Given the description of an element on the screen output the (x, y) to click on. 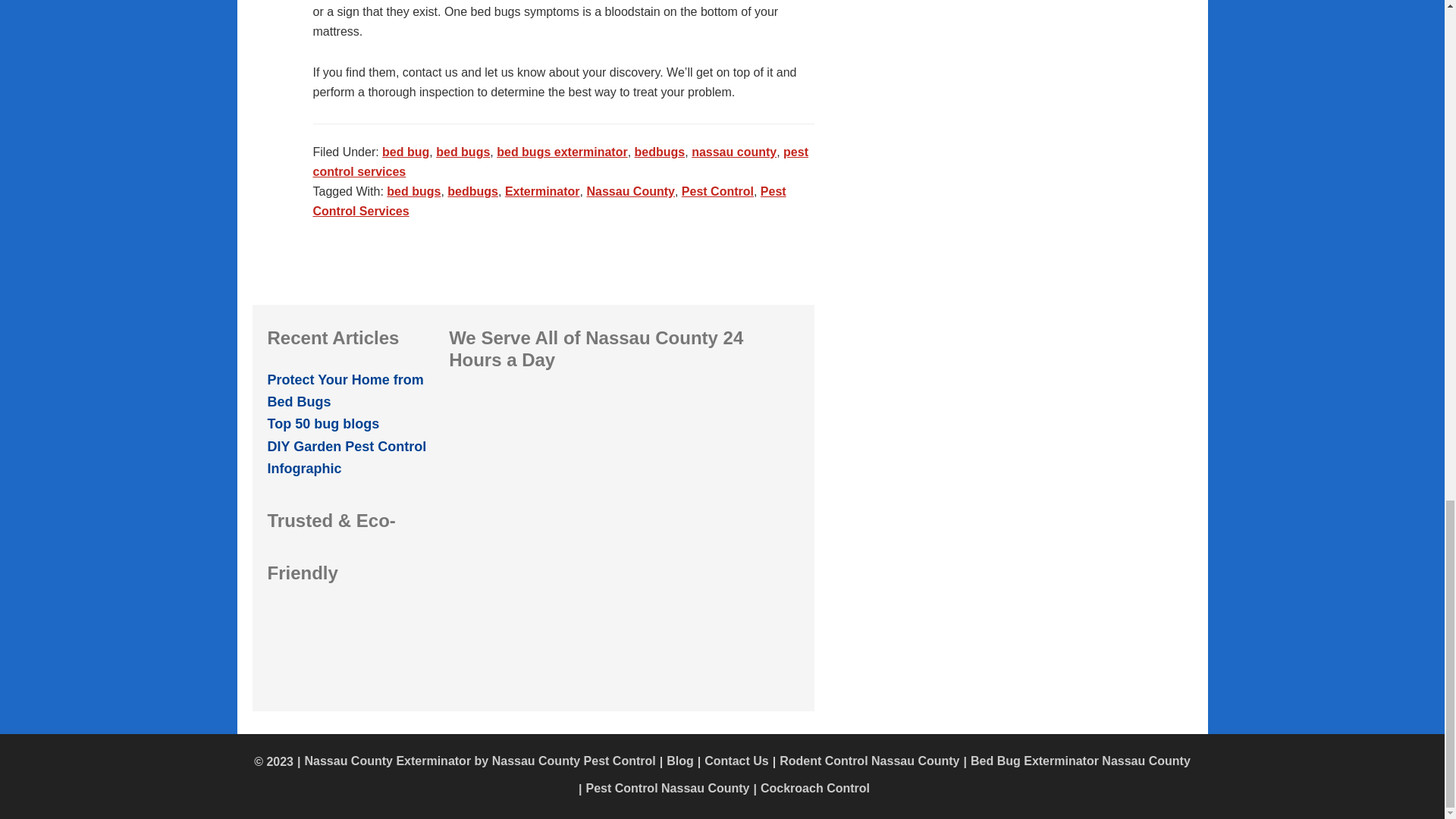
nassau county (733, 151)
Pest Control Services (549, 201)
Protect Your Home from Bed Bugs (344, 390)
Exterminator (542, 191)
bedbugs (471, 191)
pest control services (560, 161)
bed bugs exterminator (561, 151)
Top 50 bug blogs (322, 423)
Pest Control (717, 191)
Nassau County (630, 191)
bed bugs (414, 191)
bedbugs (659, 151)
bed bugs (462, 151)
bed bug (405, 151)
